Given the description of an element on the screen output the (x, y) to click on. 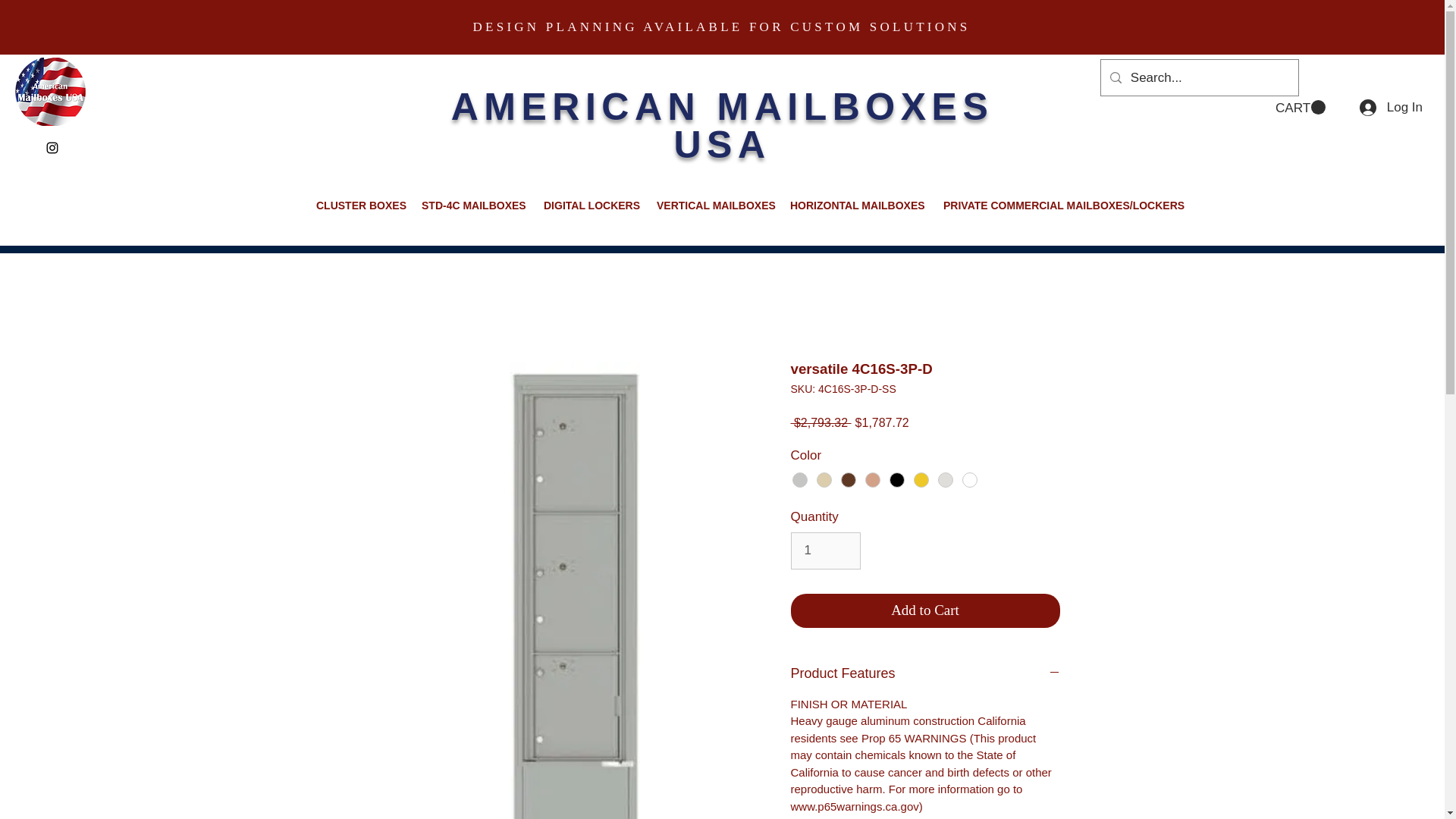
DIGITAL LOCKERS (588, 205)
Log In (1390, 107)
STD-4C MAILBOXES (471, 205)
VERTICAL MAILBOXES (711, 205)
CART (1299, 107)
1 (825, 550)
CLUSTER BOXES (357, 205)
CART (1299, 107)
AMERICAN MAILBOXES USA (722, 125)
HORIZONTAL MAILBOXES (854, 205)
